Given the description of an element on the screen output the (x, y) to click on. 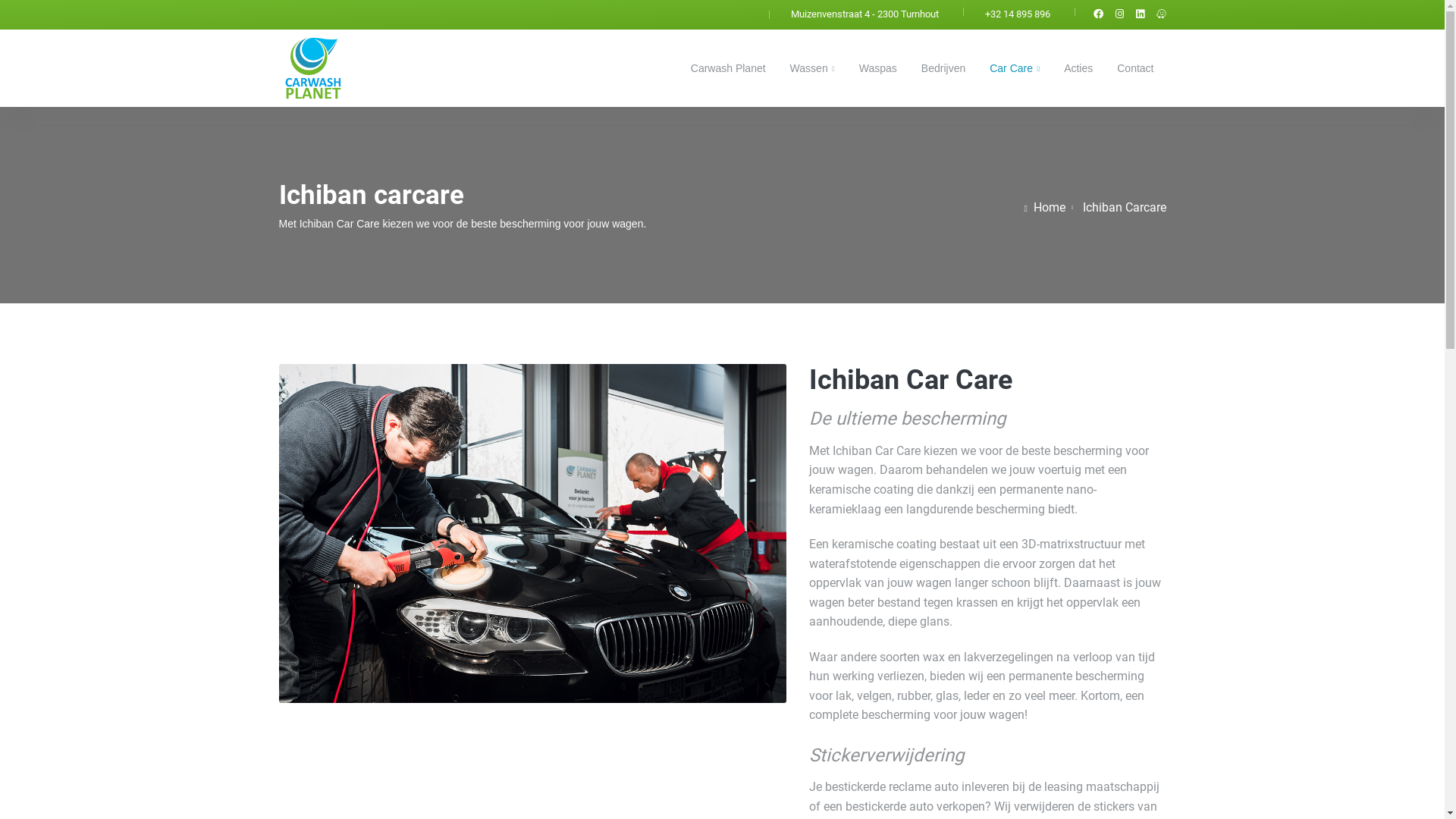
Muizenvenstraat 4 - 2300 Turnhout Element type: text (864, 14)
Wassen Element type: text (812, 68)
Bedrijven Element type: text (943, 68)
Acties Element type: text (1077, 68)
Car Care Element type: text (1014, 68)
+32 14 895 896 Element type: text (1016, 14)
Contact Element type: text (1128, 68)
Home Element type: text (1044, 207)
Ichiban Carcare Element type: text (1124, 207)
Waspas Element type: text (878, 68)
Carwash Planet Element type: text (728, 68)
